Given the description of an element on the screen output the (x, y) to click on. 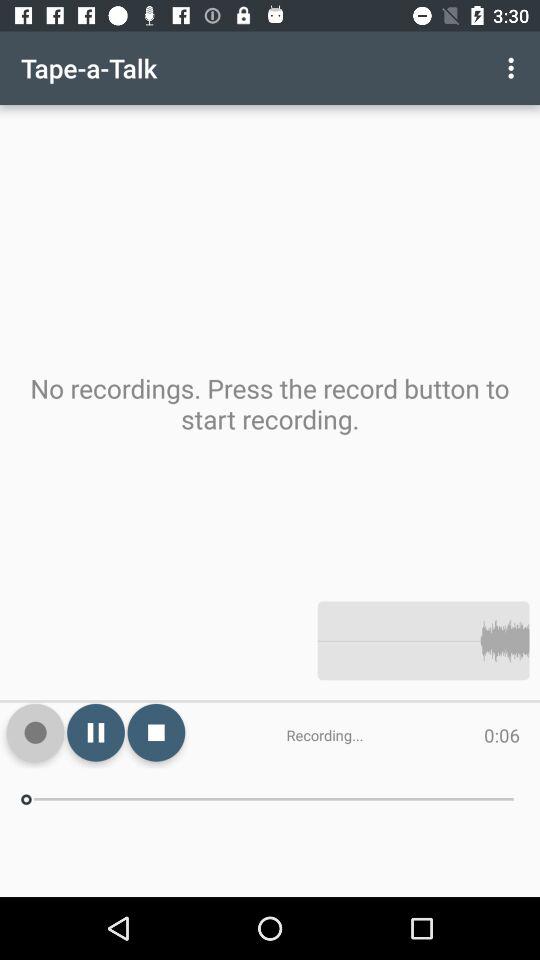
open the icon next to tape-a-talk item (513, 67)
